Given the description of an element on the screen output the (x, y) to click on. 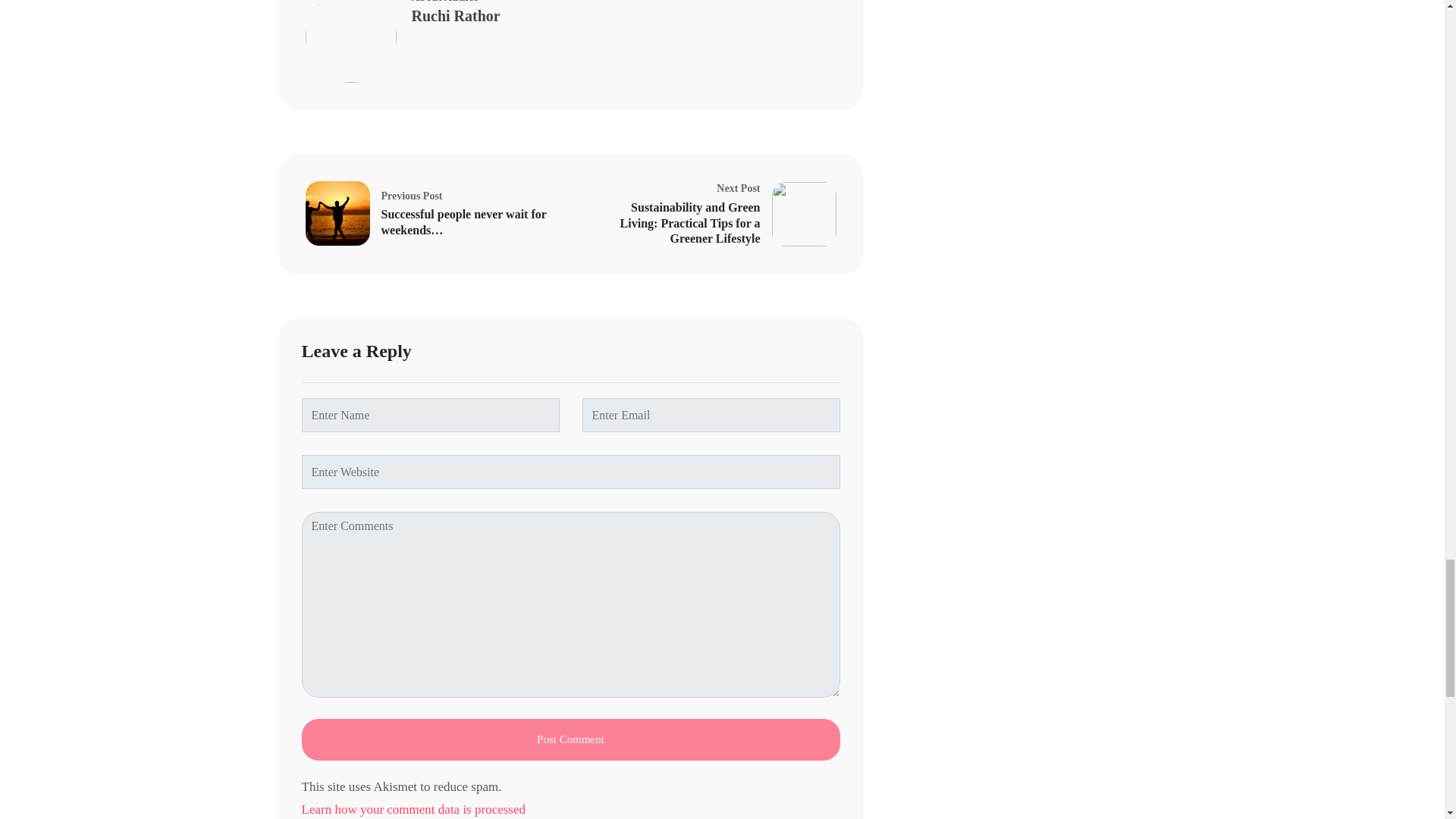
Learn how your comment data is processed (570, 808)
Post Comment (570, 739)
Post Comment (570, 739)
